Given the description of an element on the screen output the (x, y) to click on. 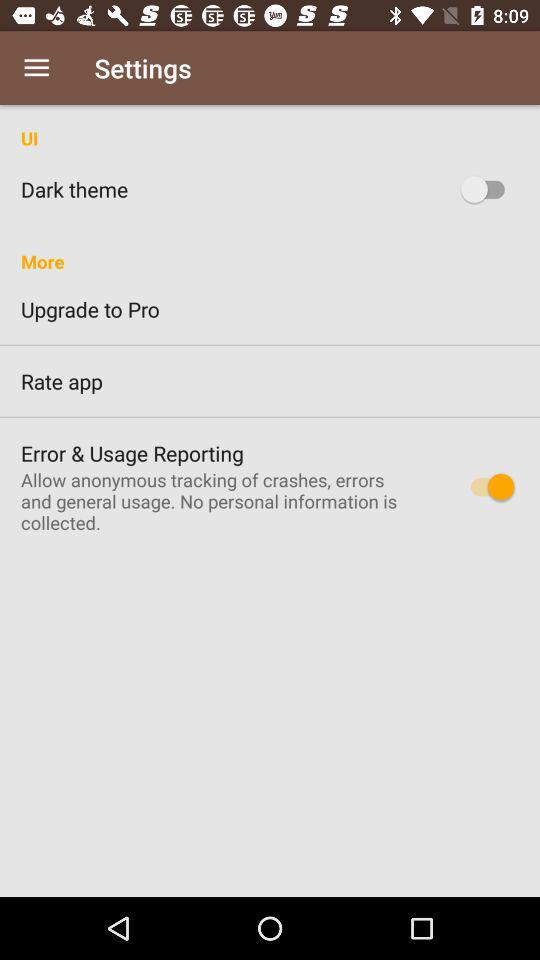
press item to the left of settings icon (36, 68)
